Given the description of an element on the screen output the (x, y) to click on. 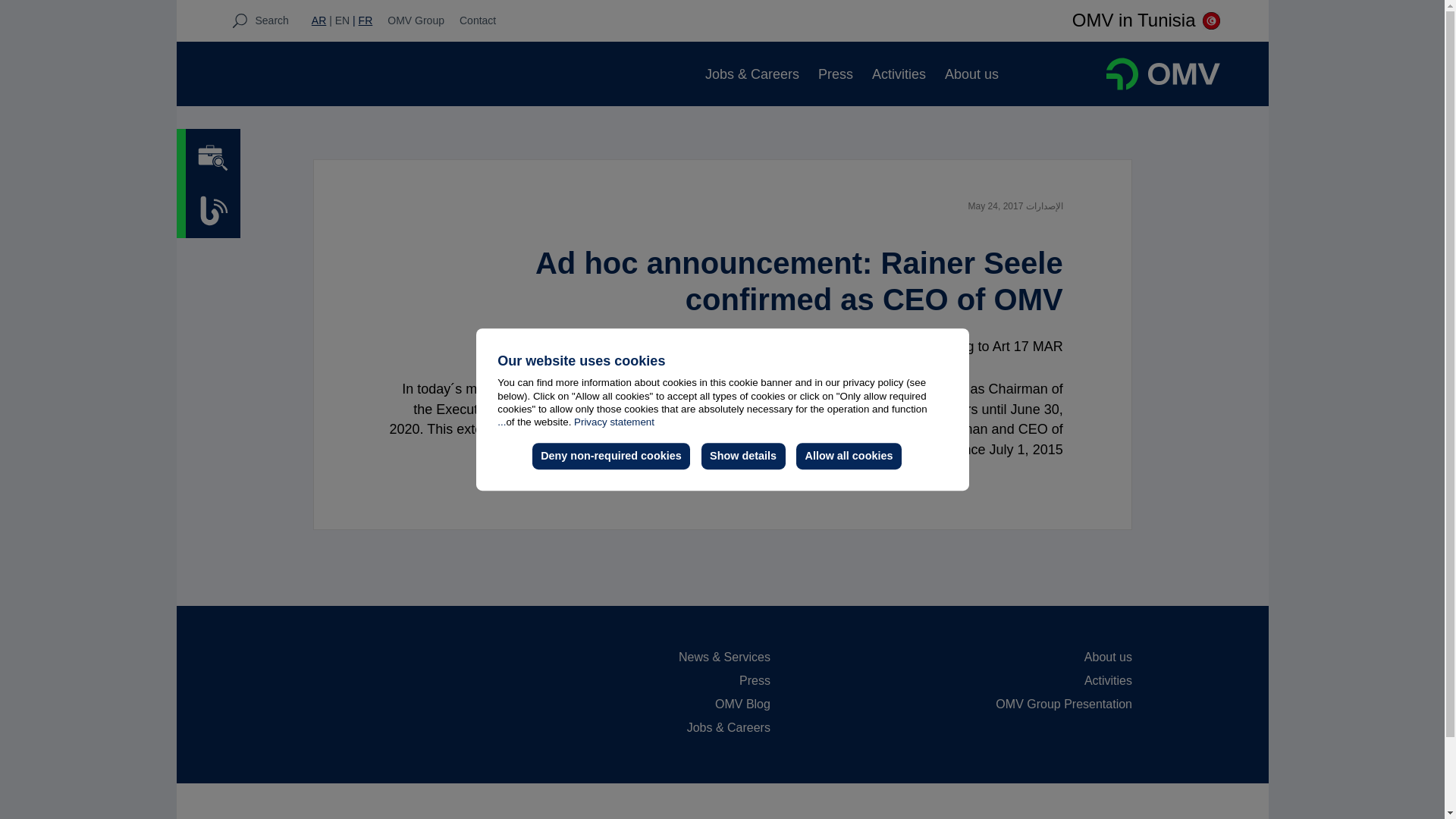
Privacy statement... (575, 421)
Activities (899, 74)
Privacy statement... (575, 421)
FR (362, 20)
Contact (478, 20)
Deny non-required cookies (611, 456)
Allow all cookies (848, 456)
Show details (743, 456)
About us (971, 74)
AR (318, 20)
